Given the description of an element on the screen output the (x, y) to click on. 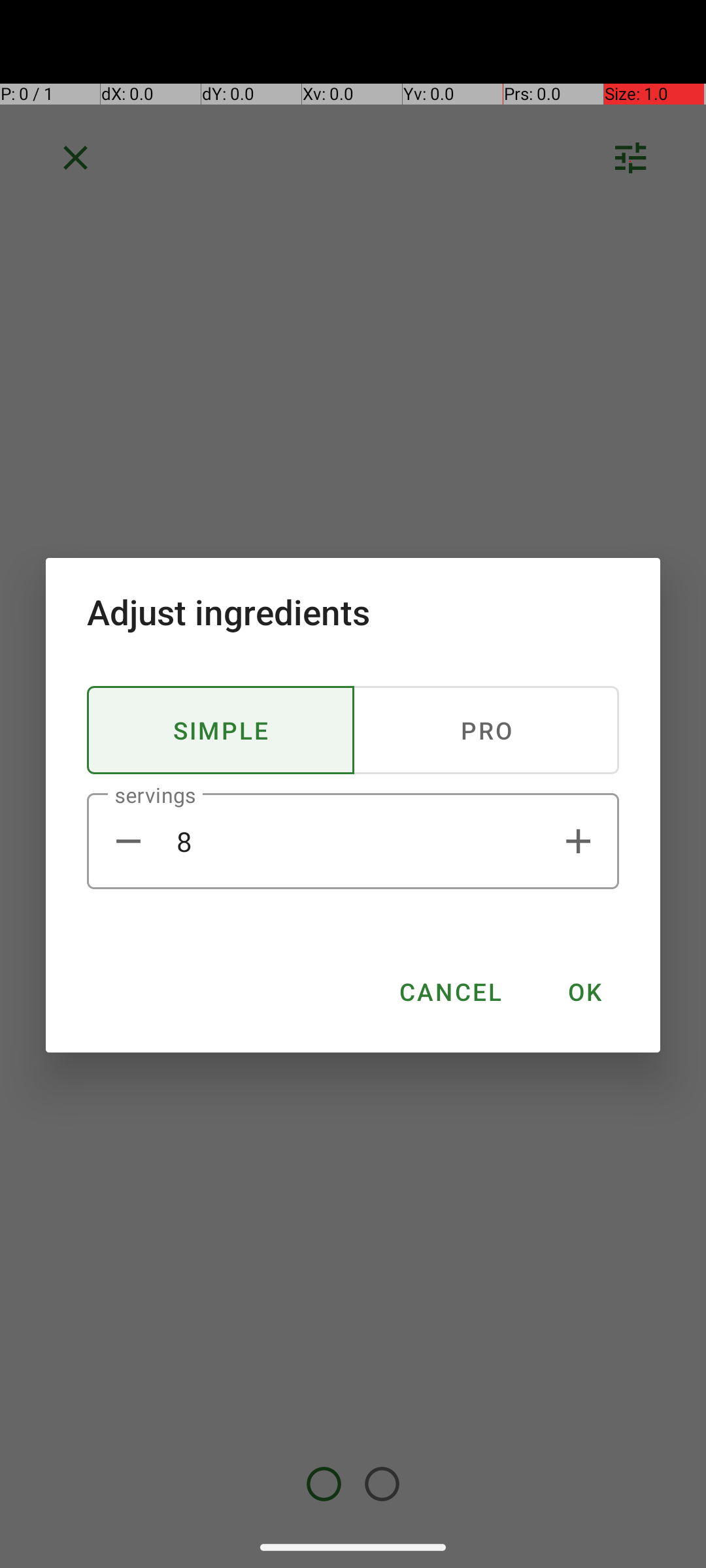
SIMPLE Element type: android.widget.CompoundButton (220, 730)
PRO Element type: android.widget.CompoundButton (485, 730)
